Given the description of an element on the screen output the (x, y) to click on. 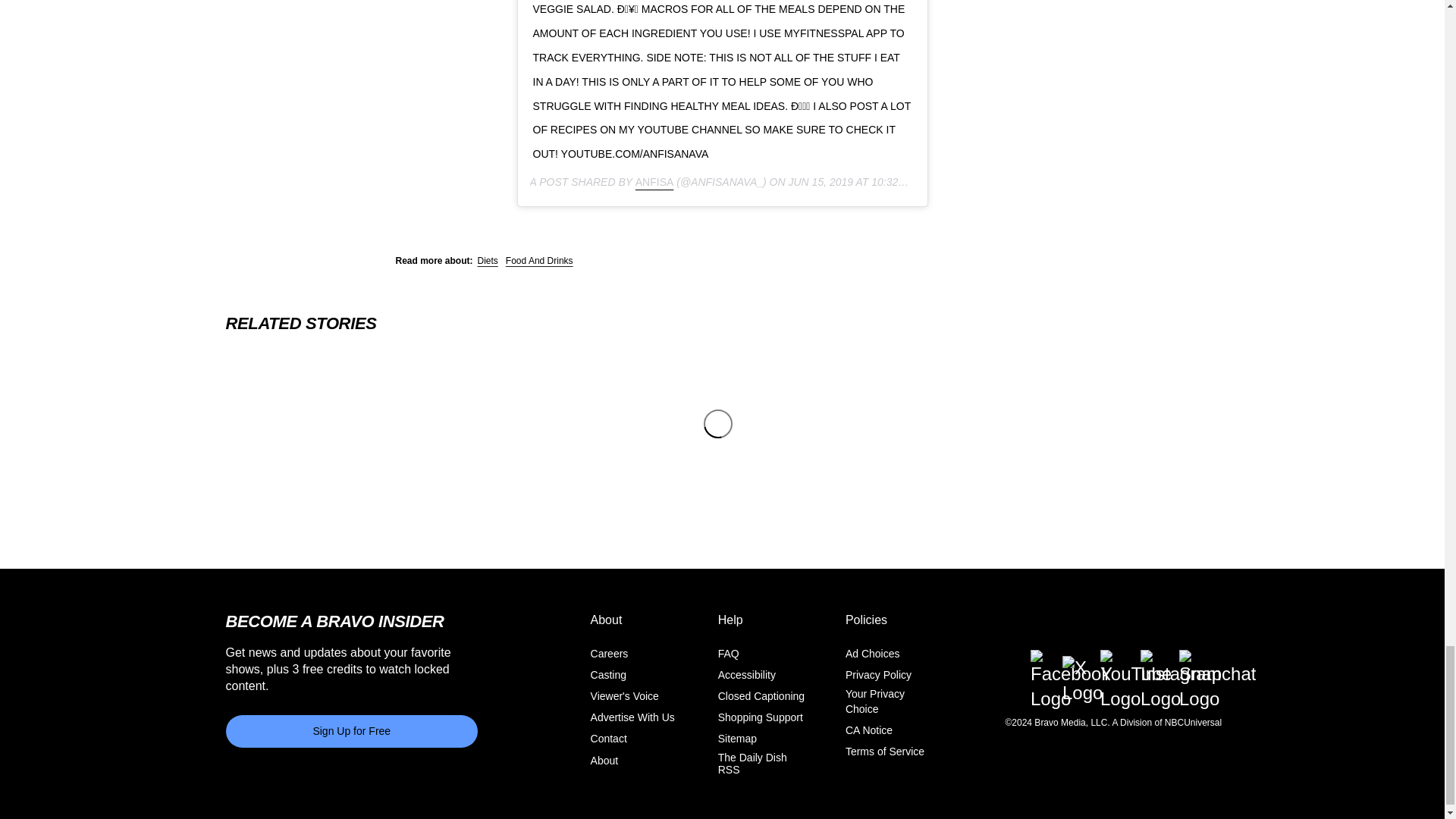
Advertise With Us (633, 717)
Food And Drinks (539, 260)
Diets (487, 260)
ANFISA (654, 182)
